Given the description of an element on the screen output the (x, y) to click on. 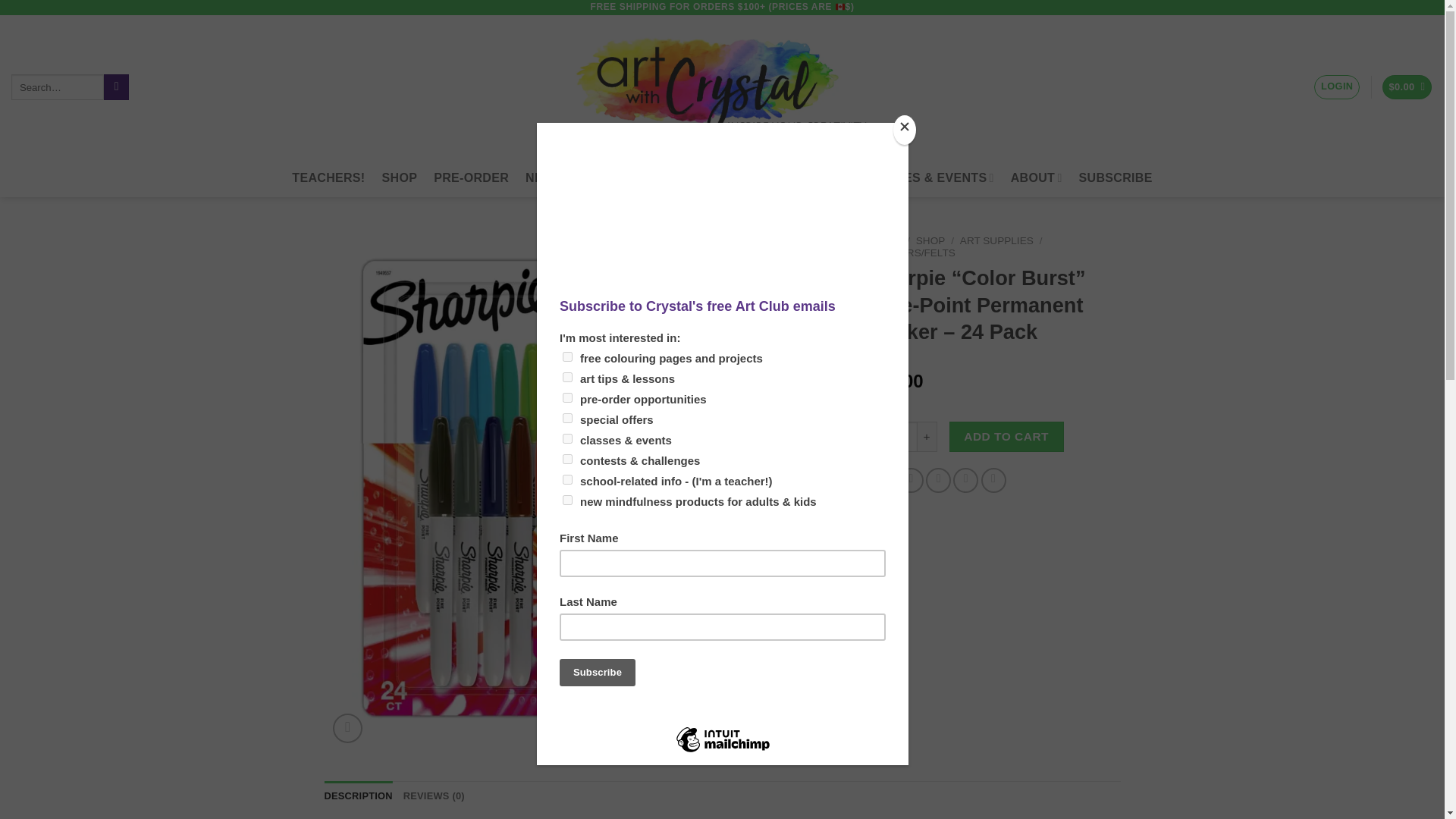
SHOP (399, 177)
ADD TO CART (1006, 436)
Login (1336, 87)
ABOUT (1036, 177)
Pin on Pinterest (965, 480)
ART SUPPLIES (996, 240)
SUBSCRIBE (1115, 177)
SALE (591, 177)
1 (901, 436)
FREE COLOURING PAGES (706, 177)
Share on Facebook (883, 480)
Cart (1406, 87)
TEACHERS! (328, 177)
Search (116, 86)
LEARN (823, 177)
